Given the description of an element on the screen output the (x, y) to click on. 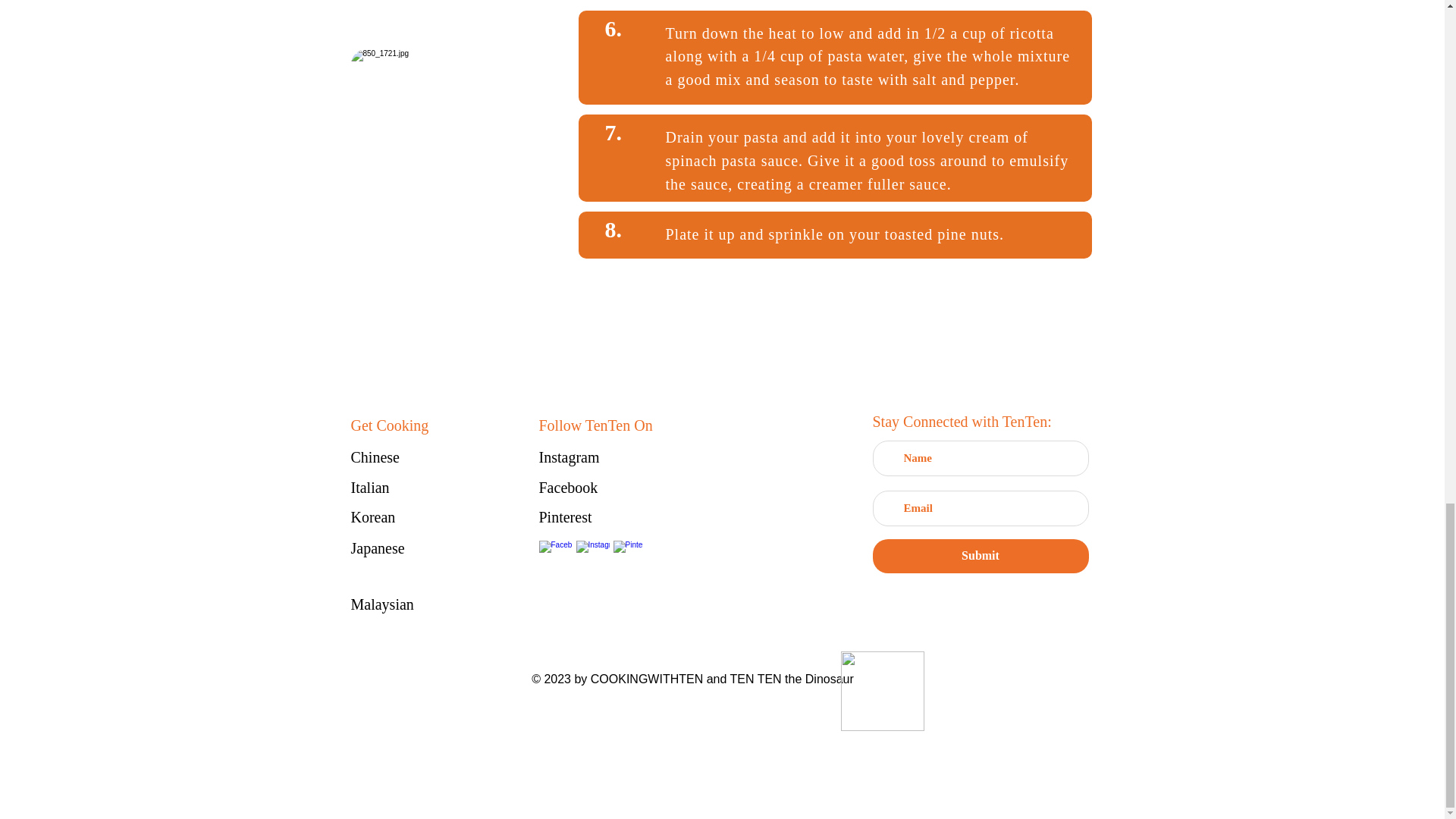
Japanese (403, 547)
Korean (403, 517)
Facebook (591, 487)
Submit (979, 555)
Pinterest (591, 517)
Chinese (403, 456)
Malaysian (403, 604)
Instagram (591, 456)
Italian (403, 487)
Blank Mouth open.png (881, 691)
